Given the description of an element on the screen output the (x, y) to click on. 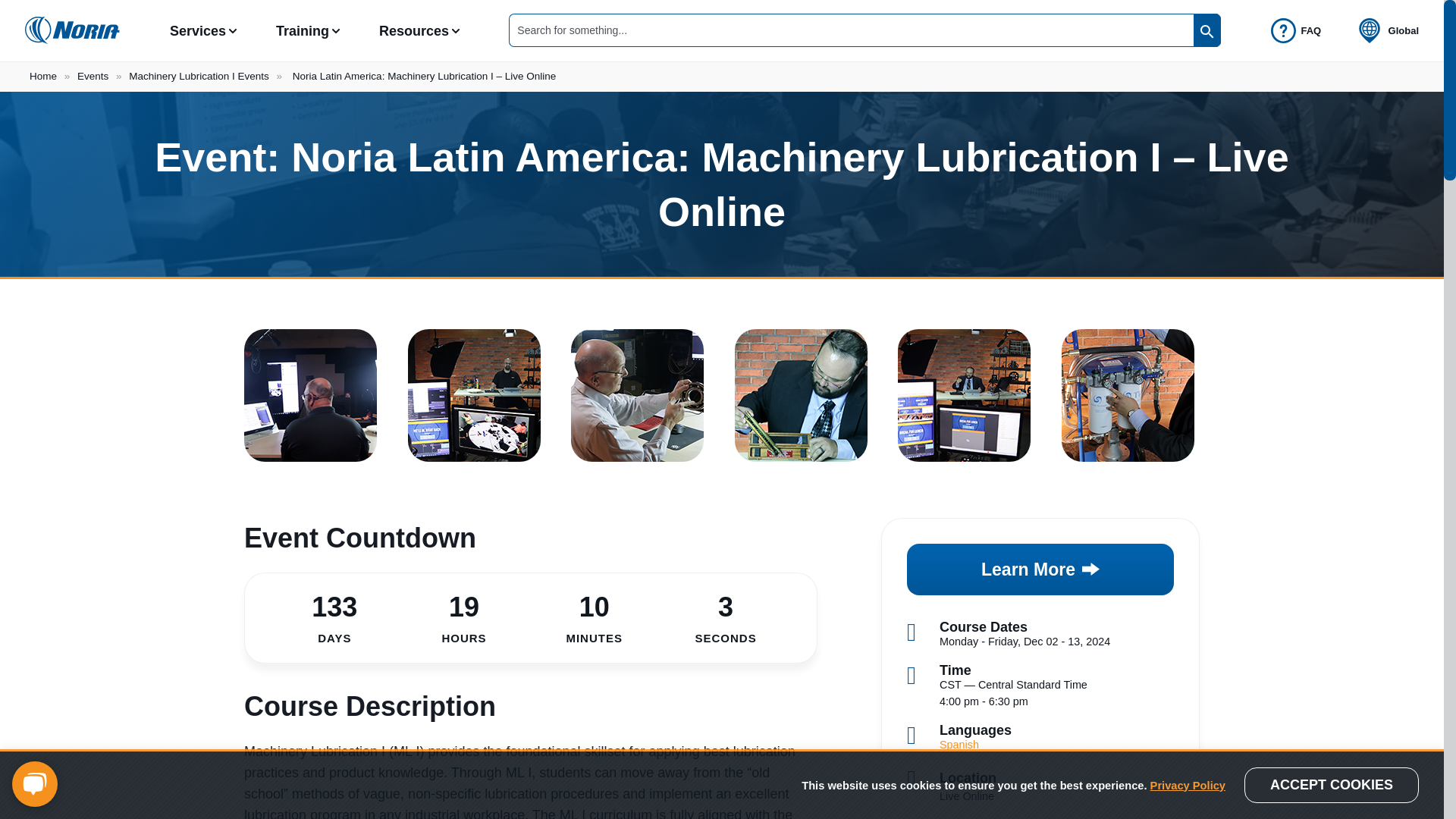
Services (197, 30)
Training (302, 30)
Services (197, 30)
Noria Corporation (71, 30)
